Given the description of an element on the screen output the (x, y) to click on. 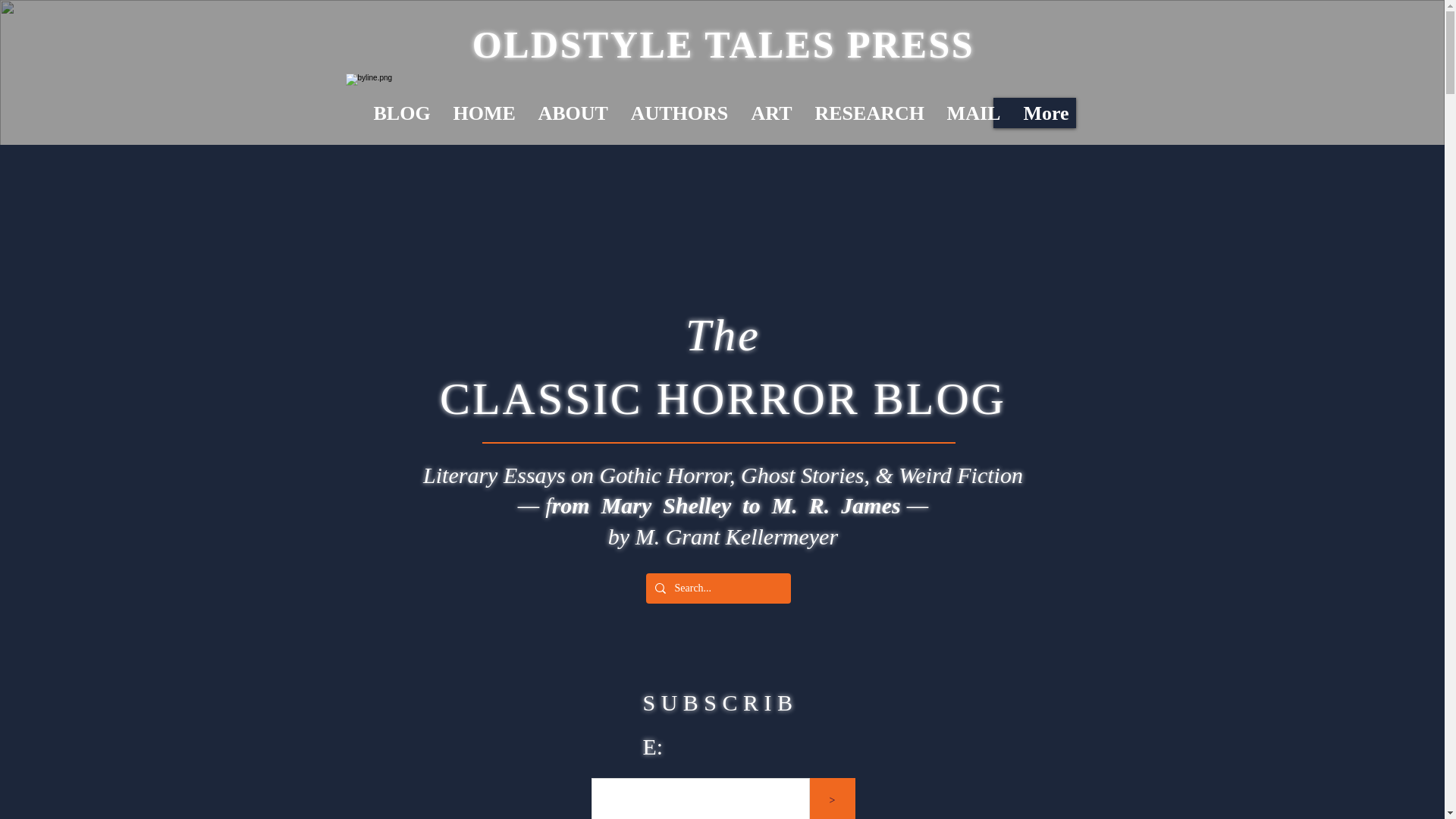
OLDSTYLE TALES PRESS (722, 44)
MAIL (973, 112)
ABOUT (571, 112)
HOME (483, 112)
ART (771, 112)
BLOG (402, 112)
RESEARCH (869, 112)
AUTHORS (678, 112)
